Given the description of an element on the screen output the (x, y) to click on. 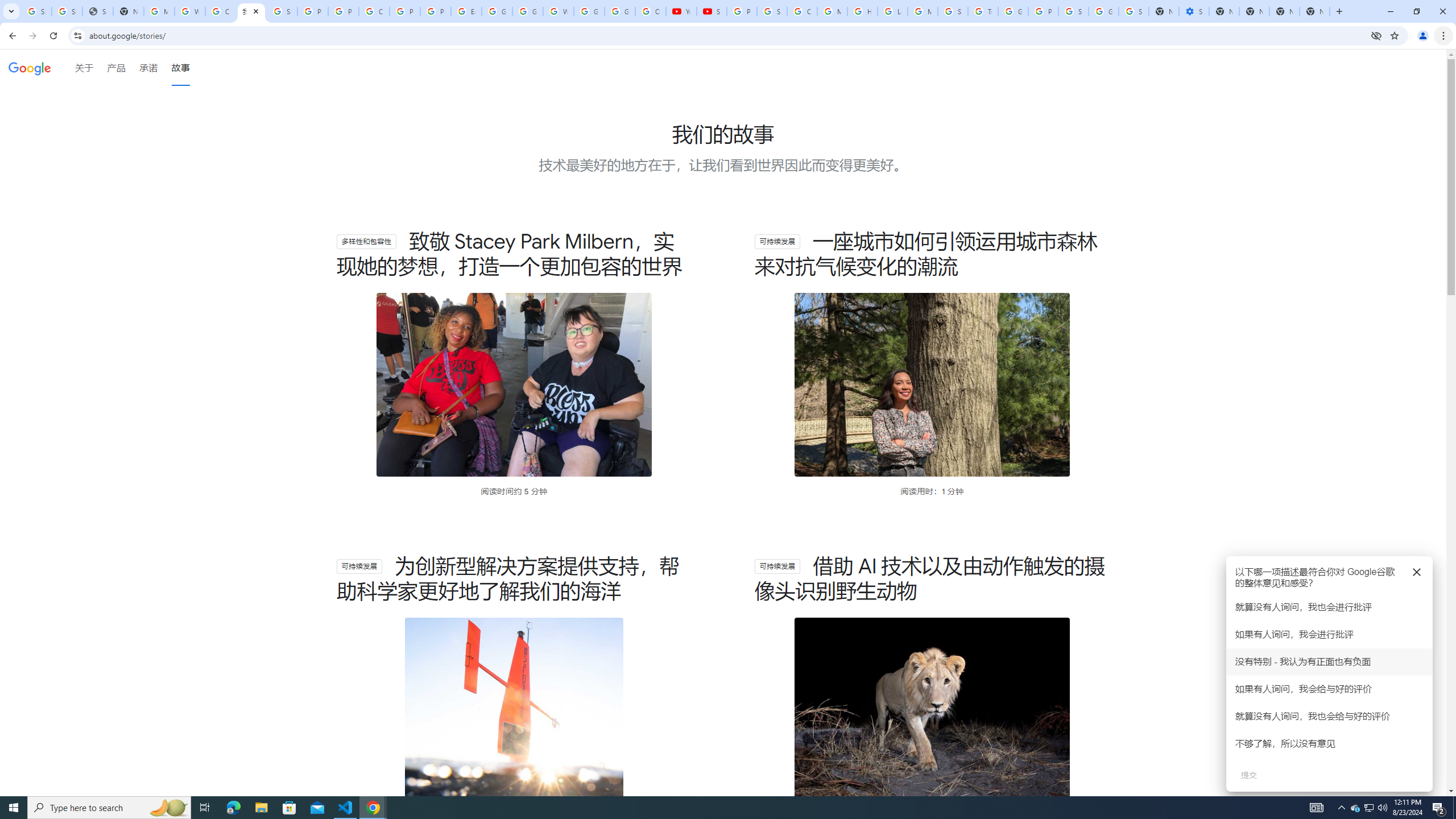
Create your Google Account (373, 11)
YouTube (681, 11)
Sign In - USA TODAY (97, 11)
Welcome to My Activity (558, 11)
Google (29, 68)
